Given the description of an element on the screen output the (x, y) to click on. 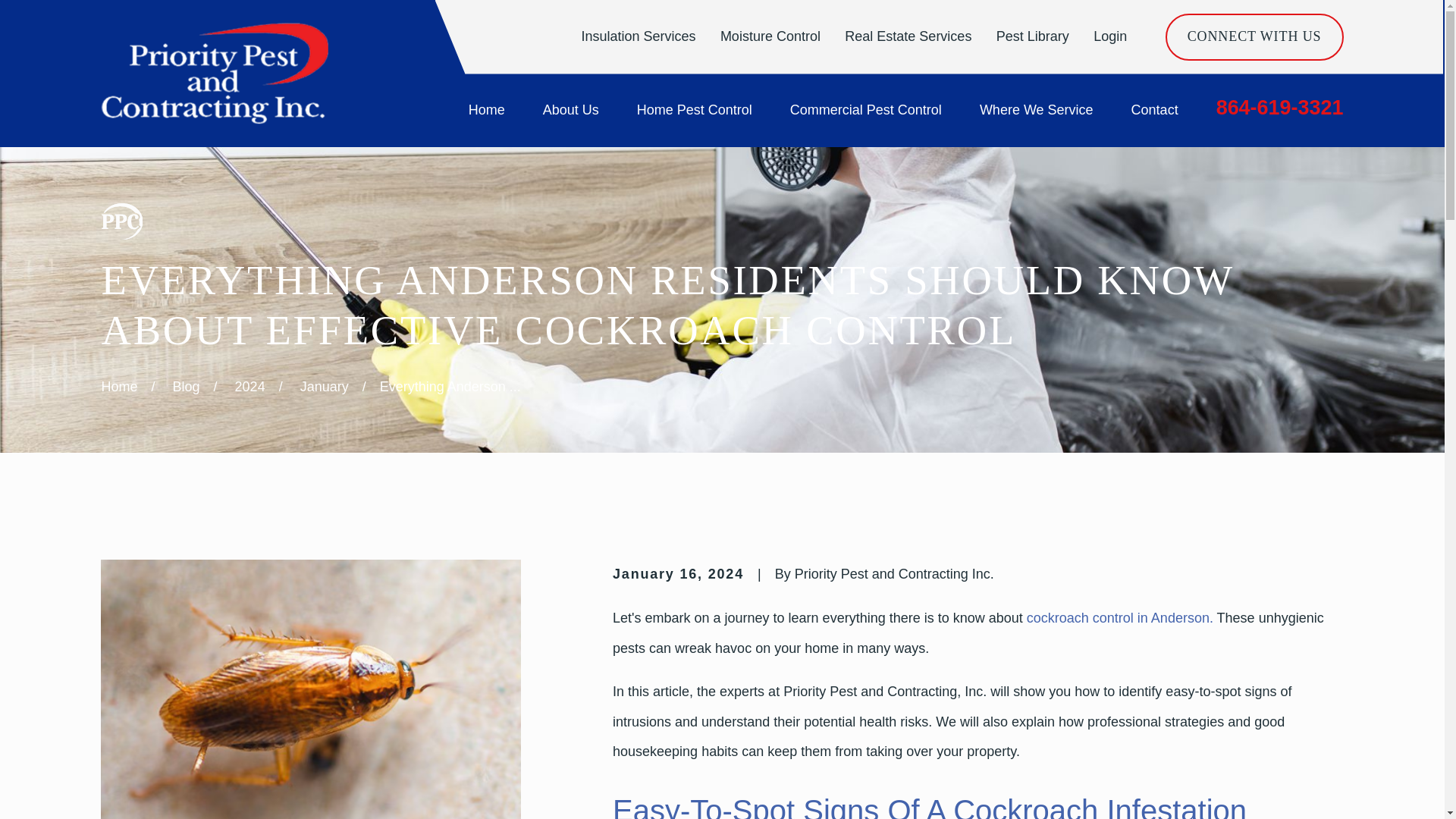
CONNECT WITH US (1254, 36)
Go Home (118, 386)
Home Pest Control (694, 110)
About Us (570, 110)
Where We Service (1036, 110)
Commercial Pest Control (866, 110)
Moisture Control (770, 36)
Login (1109, 36)
Home (214, 73)
Contact (1154, 110)
